Given the description of an element on the screen output the (x, y) to click on. 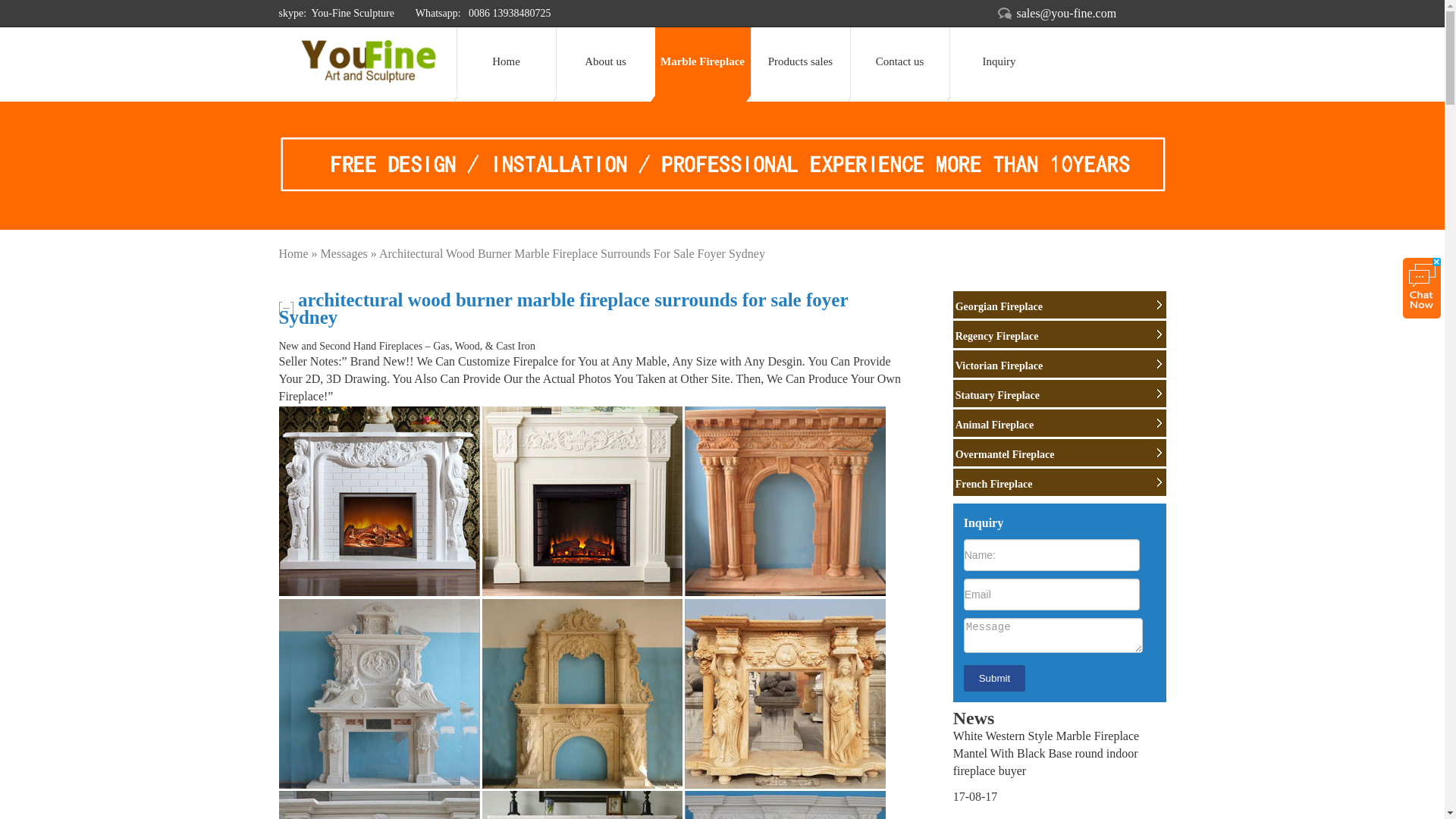
Contact us (898, 61)
Home (506, 61)
contact (898, 61)
Products sales (800, 61)
Georgian Fireplace (1060, 306)
contact (998, 61)
Messages (344, 253)
0086 13938480725 (508, 12)
Products sales (800, 61)
Georgian Fireplace (1060, 306)
Inquiry (998, 61)
about (603, 61)
Marble Fireplace (703, 61)
Submit (994, 678)
Marble Fireplace (703, 61)
